Given the description of an element on the screen output the (x, y) to click on. 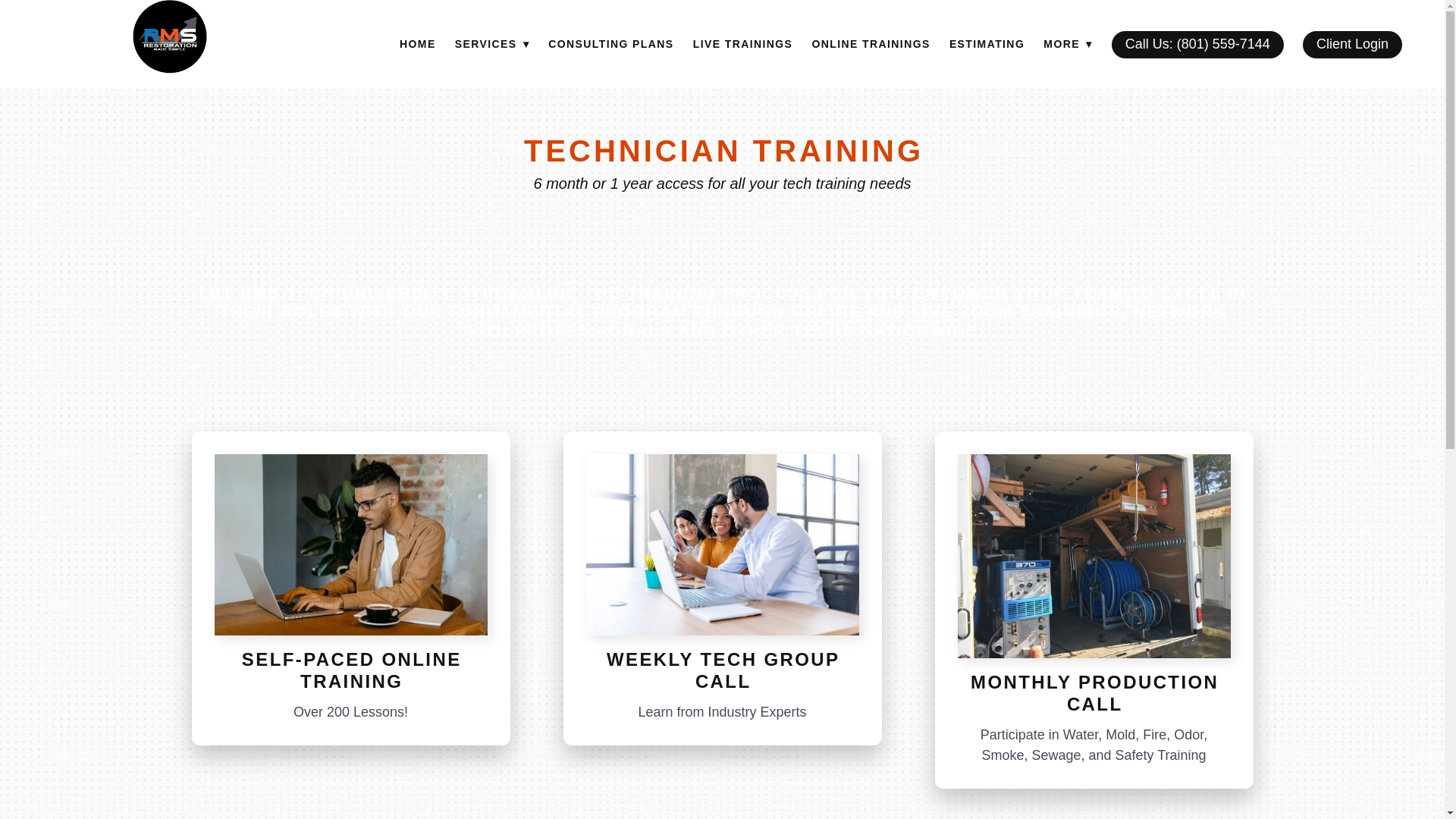
ONLINE TRAININGS (870, 44)
ESTIMATING (987, 44)
Restoration Made Simple (169, 36)
CONSULTING PLANS (610, 44)
HOME (416, 44)
Client Login (1352, 44)
LIVE TRAININGS (743, 44)
